Given the description of an element on the screen output the (x, y) to click on. 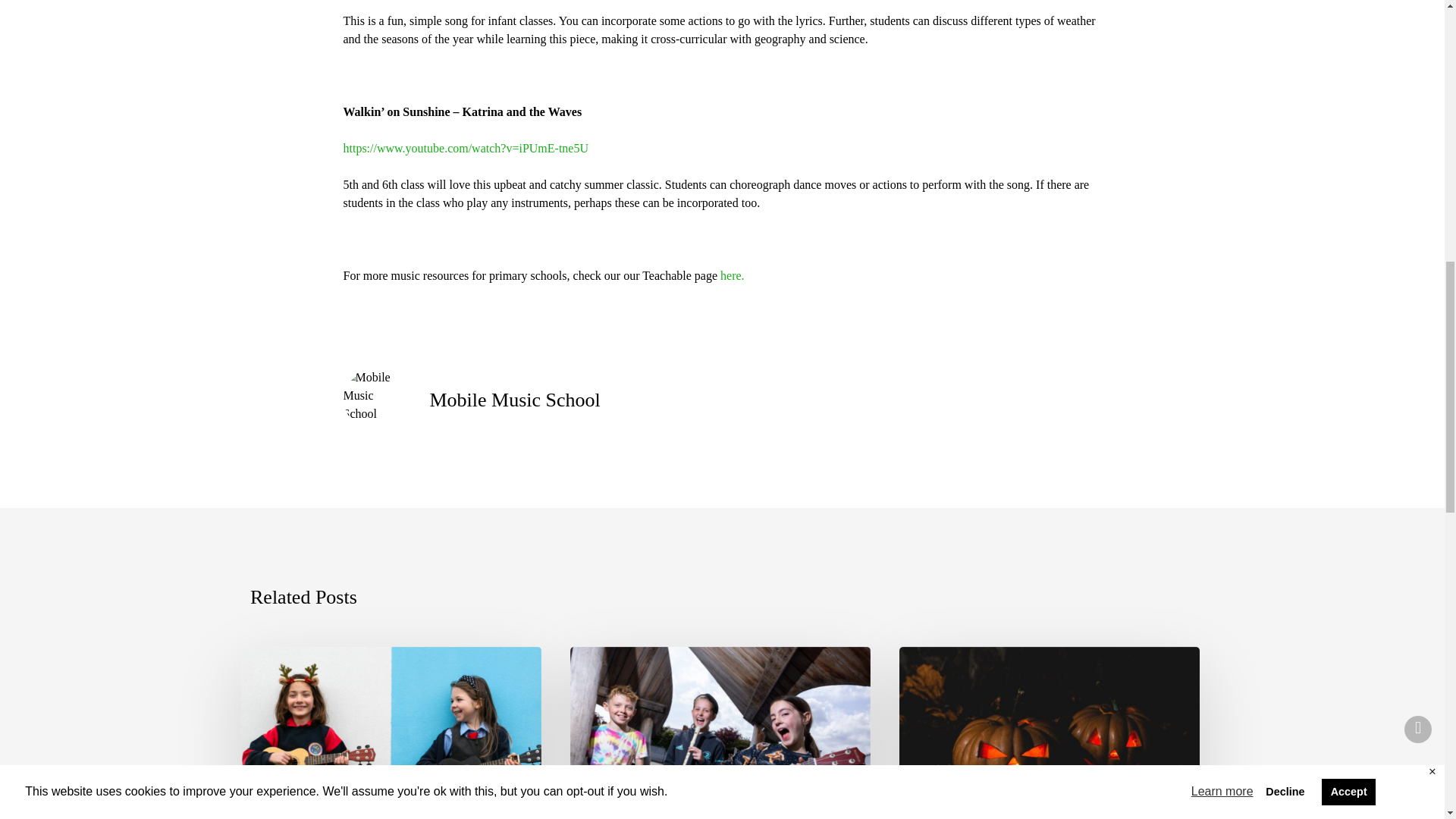
Mobile Music School (514, 399)
here. (732, 275)
